Given the description of an element on the screen output the (x, y) to click on. 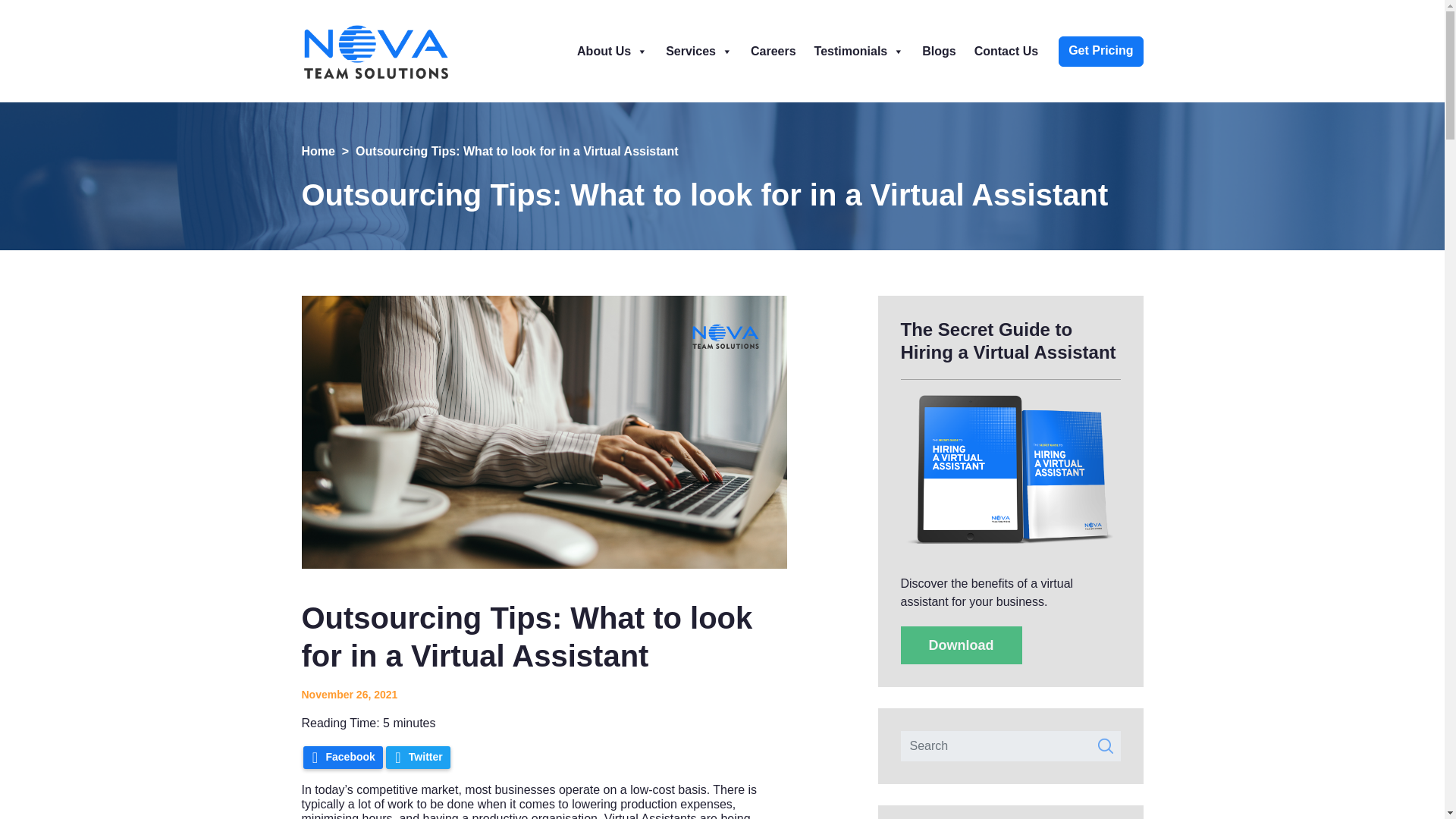
Blogs (937, 51)
Facebook (342, 757)
Testimonials (859, 51)
About Us (611, 51)
Twitter (417, 757)
Share this article on Facebook (342, 757)
Home (317, 151)
Download (961, 645)
Search for: (1011, 746)
Services (698, 51)
